Given the description of an element on the screen output the (x, y) to click on. 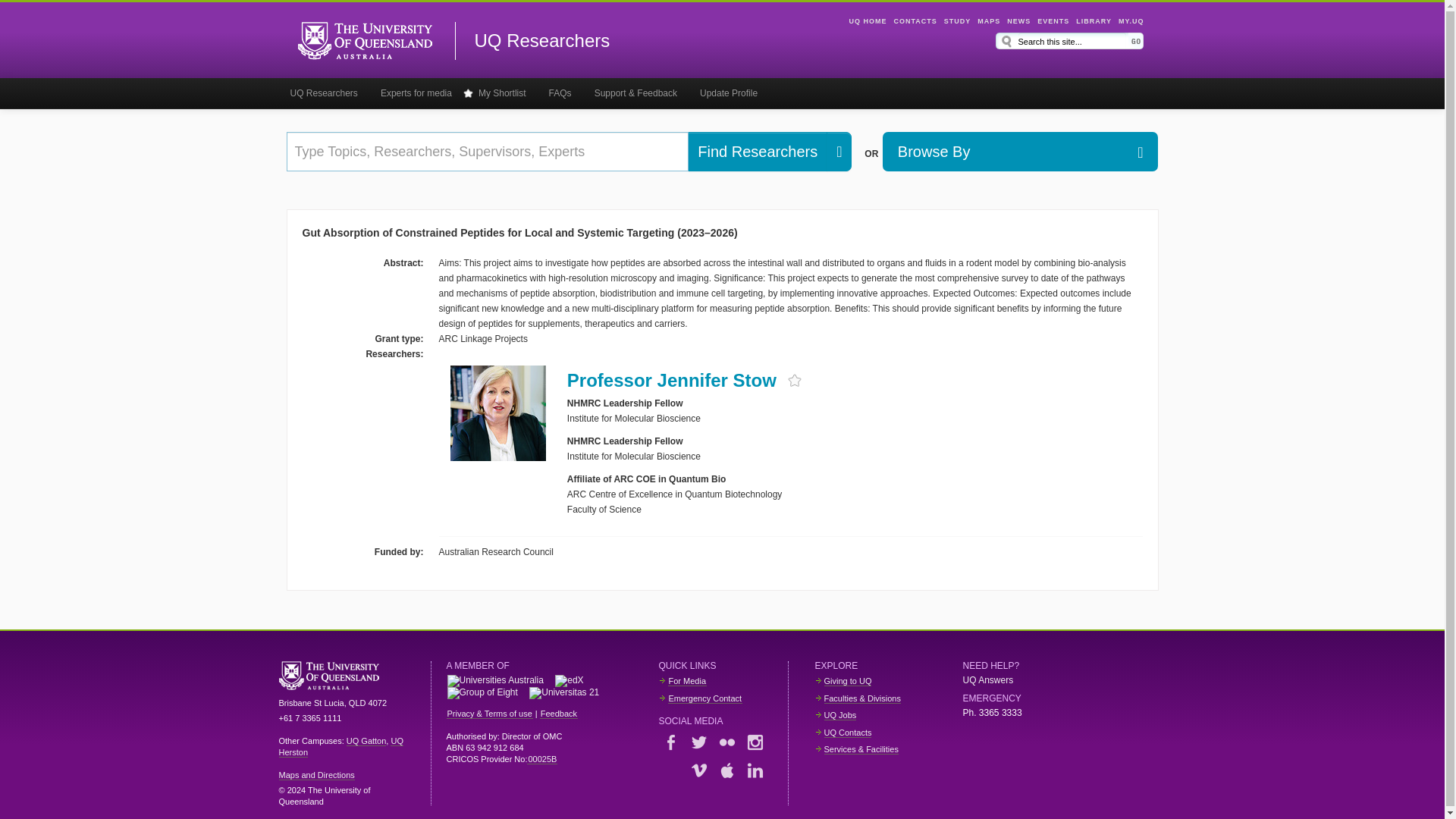
UQ HOME (867, 21)
MAPS (988, 21)
Search UQ (1135, 40)
UQ Researchers (542, 40)
NEWS (1018, 21)
Professor Jennifer Stow (671, 380)
Maps and Directions (317, 775)
Search this site... (1071, 40)
UQ Herston (341, 746)
My Shortlist (500, 92)
